Given the description of an element on the screen output the (x, y) to click on. 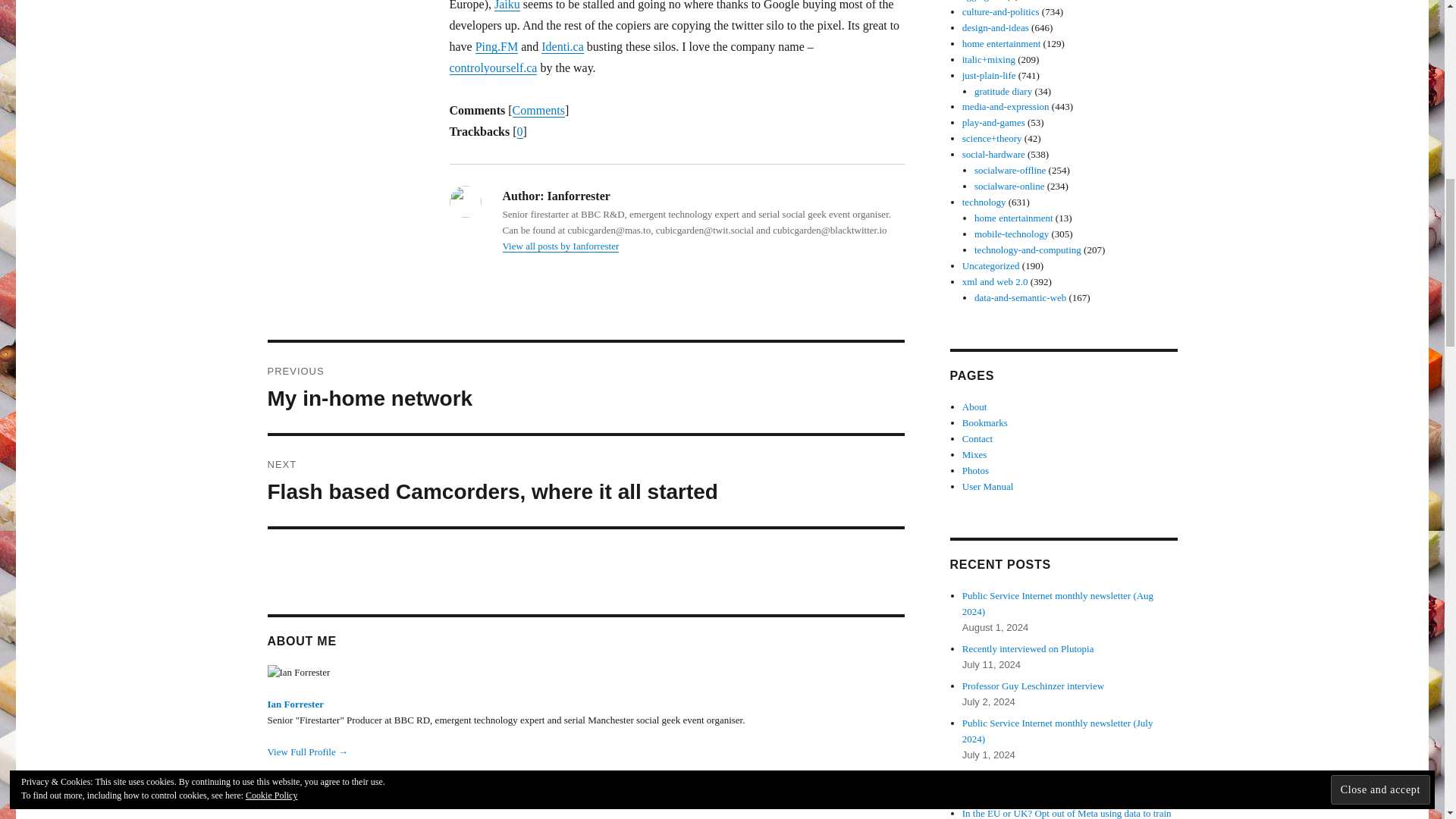
Comments (538, 110)
Jaiku (507, 5)
Ping.FM (497, 46)
controlyourself.ca (585, 480)
Identi.ca (492, 67)
Ian Forrester (585, 388)
View all posts by Ianforrester (562, 46)
